Given the description of an element on the screen output the (x, y) to click on. 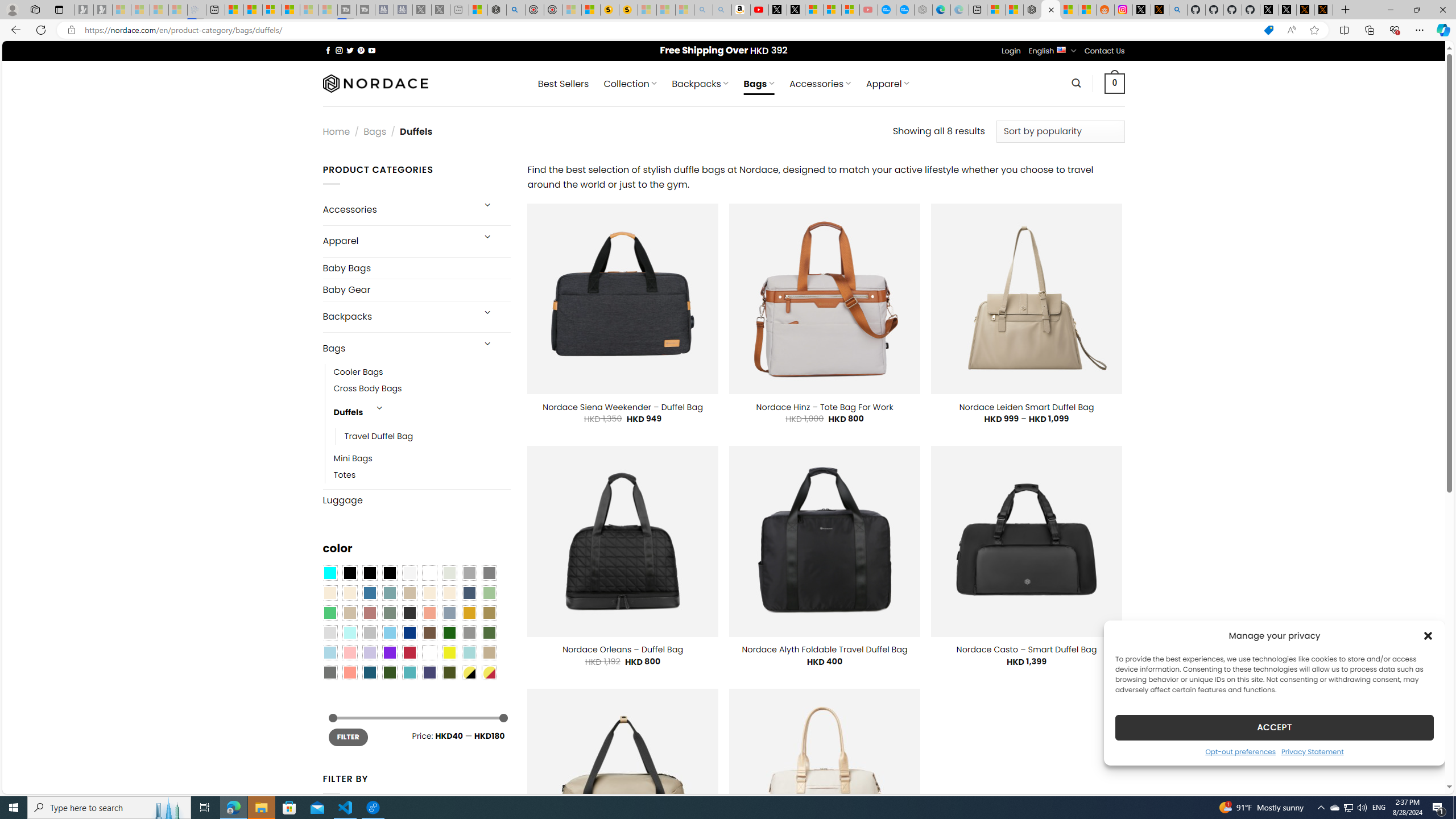
Hale Navy (468, 592)
Day 1: Arriving in Yemen (surreal to be here) - YouTube (759, 9)
English (1061, 49)
Light Gray (329, 632)
FILTER (347, 737)
Kelp (488, 613)
Light Taupe (349, 613)
Totes (344, 475)
Bags (397, 348)
Class: cmplz-close (1428, 635)
Clear (429, 572)
Aqua (468, 652)
